Given the description of an element on the screen output the (x, y) to click on. 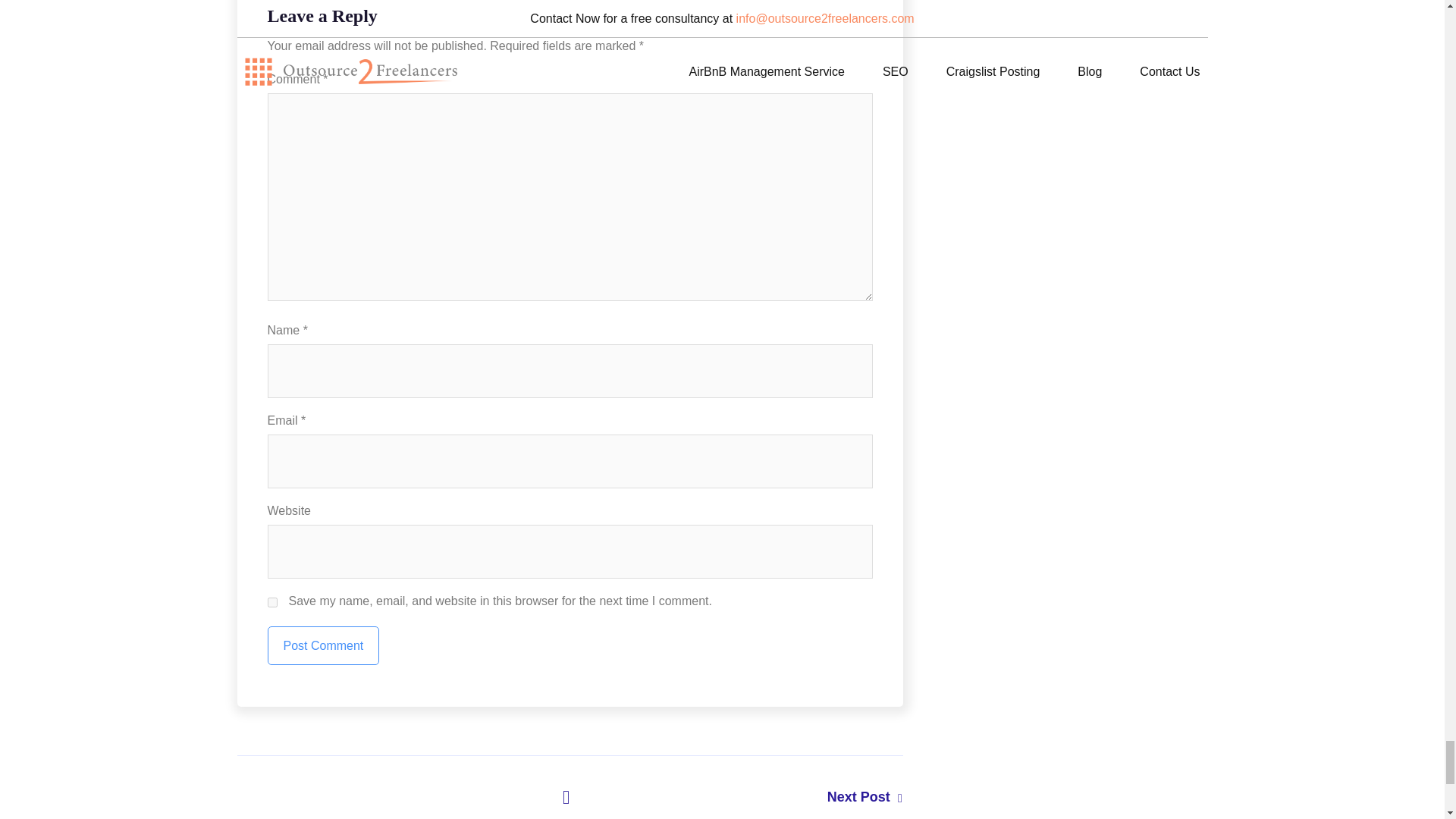
Post Comment (322, 645)
Post Comment (322, 645)
Next Post (735, 797)
yes (271, 602)
